Given the description of an element on the screen output the (x, y) to click on. 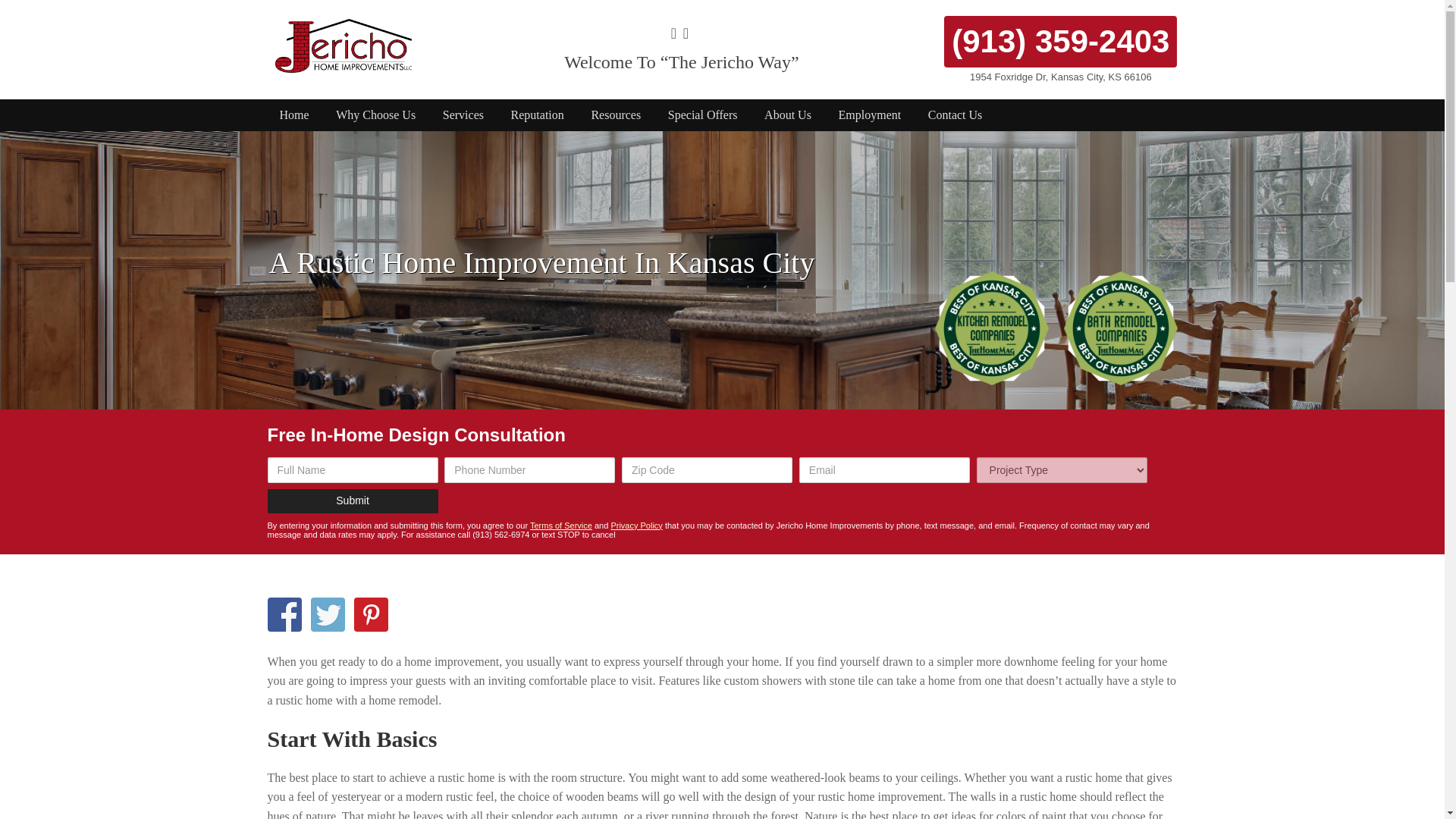
Resources (615, 115)
KCBestKitchenRemodel 1 (991, 327)
Services (463, 115)
Why Choose Us (375, 115)
Home (293, 115)
KCBestBathRemodel 1 (1119, 327)
Submit (352, 500)
Reputation (537, 115)
